Given the description of an element on the screen output the (x, y) to click on. 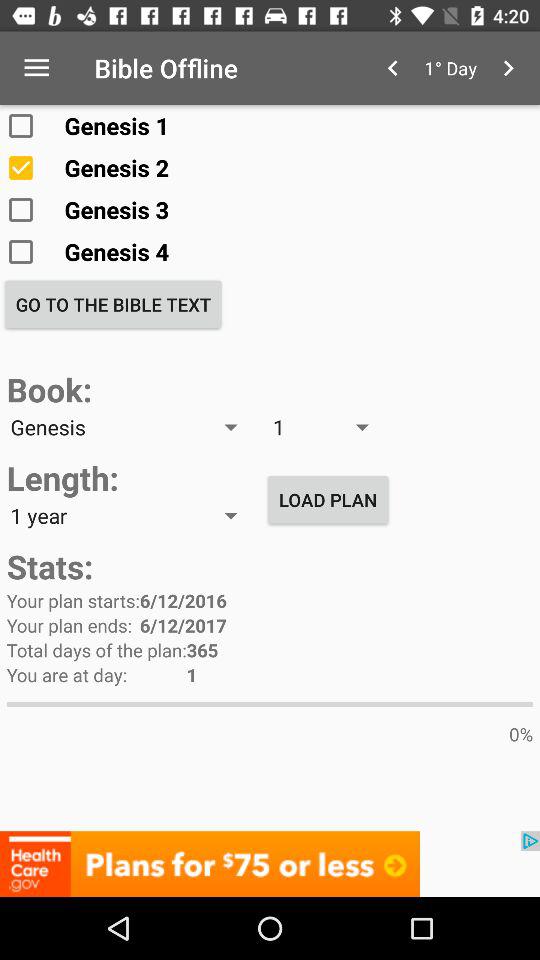
click discription (270, 864)
